Given the description of an element on the screen output the (x, y) to click on. 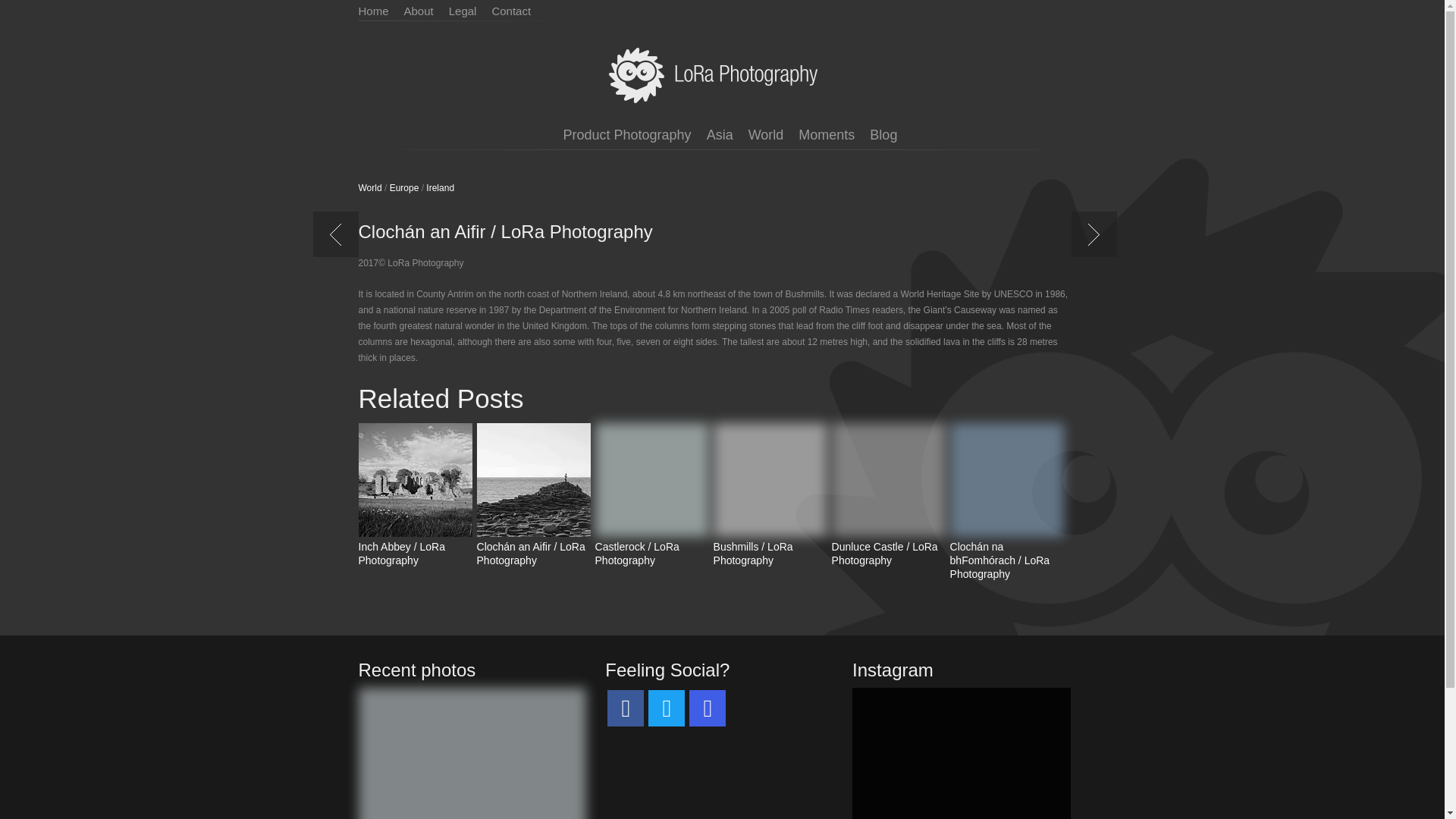
About (426, 10)
Asia (719, 134)
World photography (766, 134)
Contact Lora Rahneva (519, 10)
Home (380, 10)
About Lora Rahneva (426, 10)
Previous photo (339, 250)
Asia photography (719, 134)
Contact (519, 10)
Legal (470, 10)
Lora Photography (721, 75)
Lora Photography (721, 75)
Website terms and conditions of use (470, 10)
Lora Rahneva Photography Homepage (380, 10)
Product Photography (626, 134)
